Given the description of an element on the screen output the (x, y) to click on. 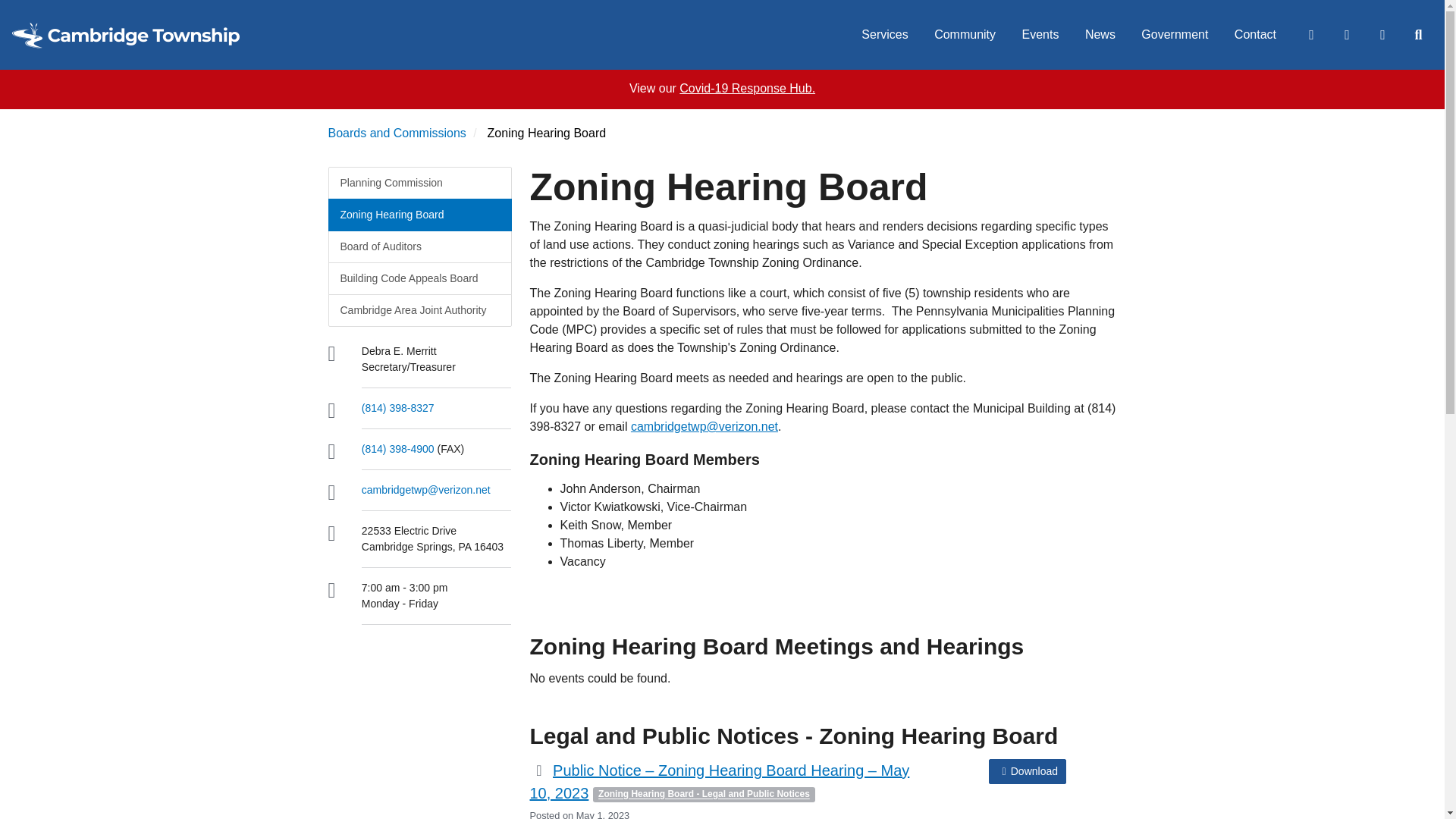
Report Issue (1381, 35)
Home (125, 34)
Cambridge Area Joint Authority (419, 310)
Zoning Hearing Board - Legal and Public Notices (703, 794)
Search (1417, 35)
Payments (1345, 35)
Zoning Hearing Board (419, 214)
Planning Commission (419, 183)
Planning Commission (419, 183)
Report Issue (1381, 35)
Search (1417, 35)
Zoning Hearing Board (419, 214)
Board of Auditors (419, 246)
Government (1174, 34)
